Given the description of an element on the screen output the (x, y) to click on. 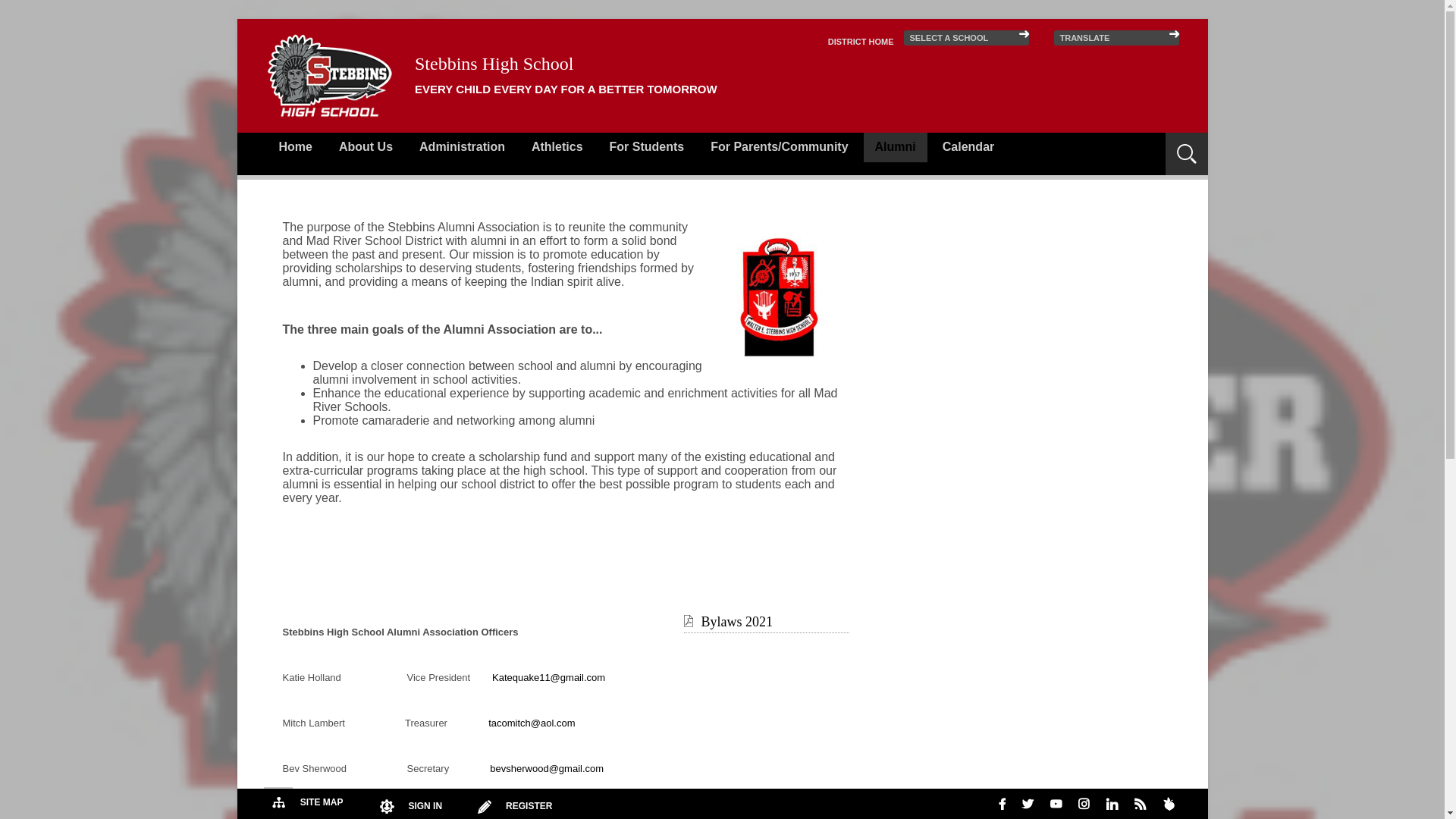
Return to the homepage on the district site. (860, 41)
Search Term (1123, 143)
Stebbins High School (330, 75)
Search this site (1123, 143)
DISTRICT HOME (860, 41)
ss (779, 296)
